Given the description of an element on the screen output the (x, y) to click on. 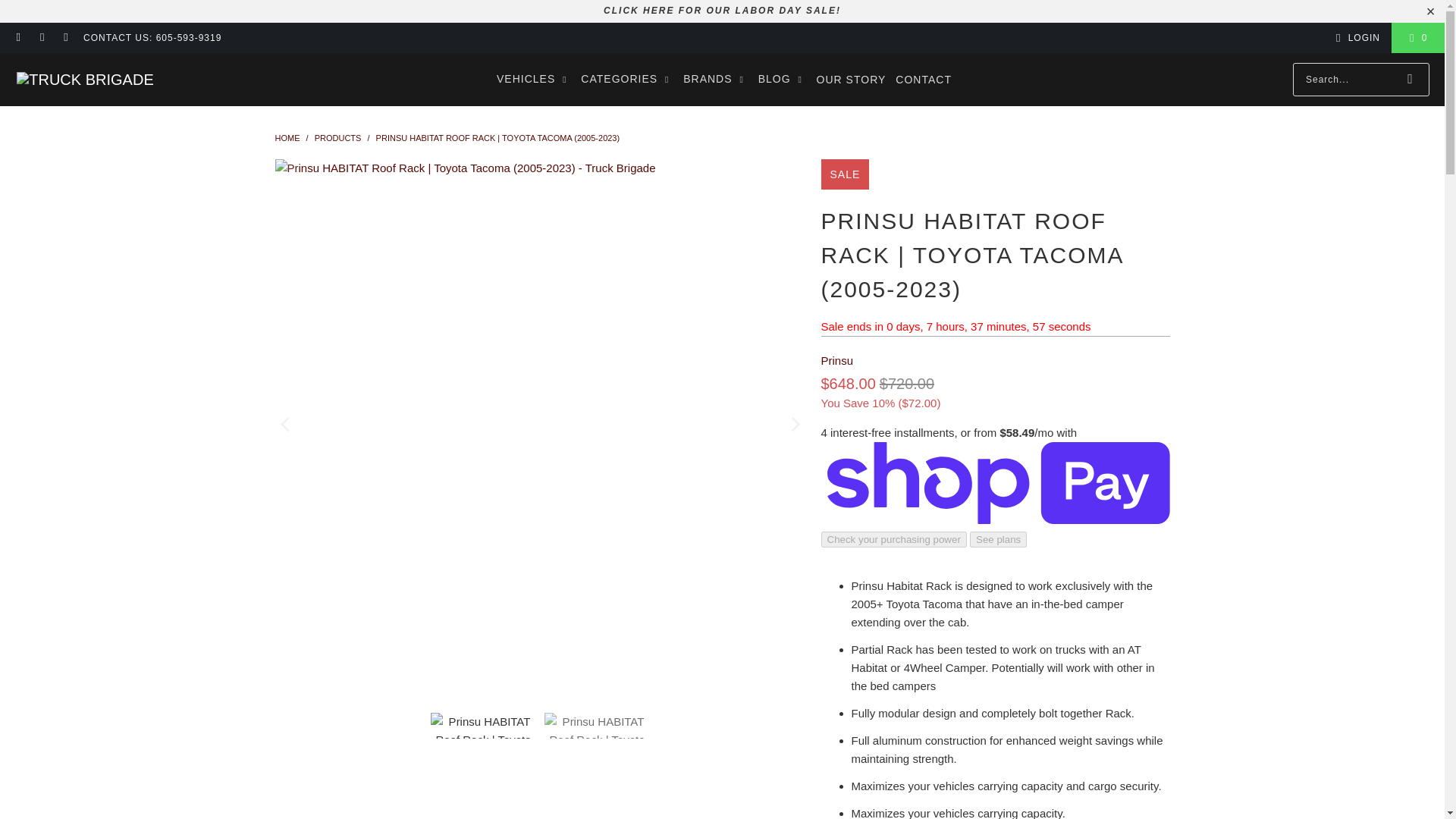
Overland and Offroad Accessory Deals (722, 9)
Truck Brigade (84, 79)
Truck Brigade (287, 137)
Products (337, 137)
Truck Brigade on YouTube (65, 37)
My Account  (1355, 37)
Truck Brigade on Facebook (17, 37)
Truck Brigade on Instagram (41, 37)
